Given the description of an element on the screen output the (x, y) to click on. 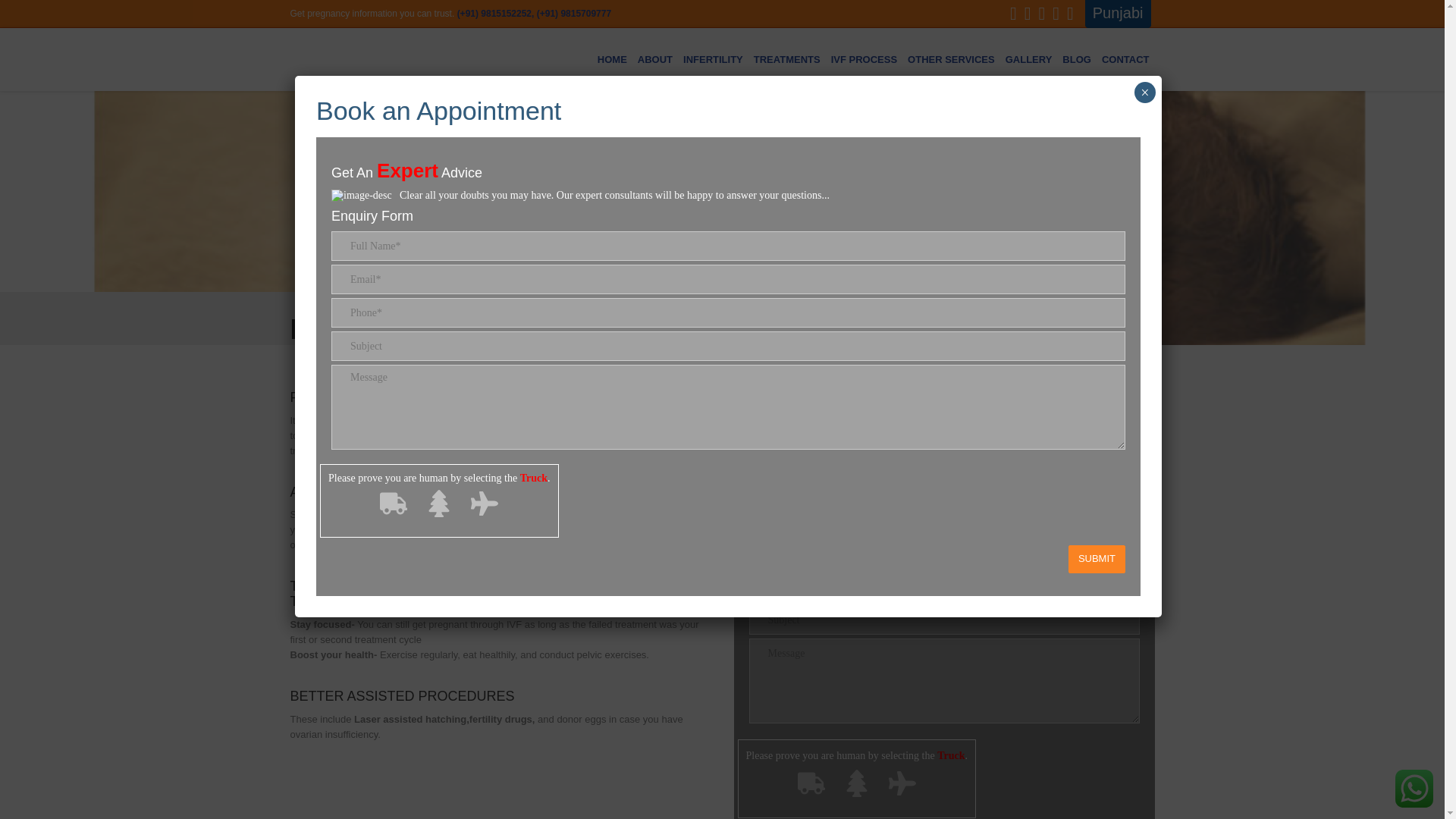
GALLERY (1029, 58)
IVF PROCESS (863, 58)
SUBMIT (1096, 559)
TREATMENTS (786, 58)
OTHER SERVICES (951, 58)
Punjabi (1114, 13)
INFERTILITY (713, 58)
